Given the description of an element on the screen output the (x, y) to click on. 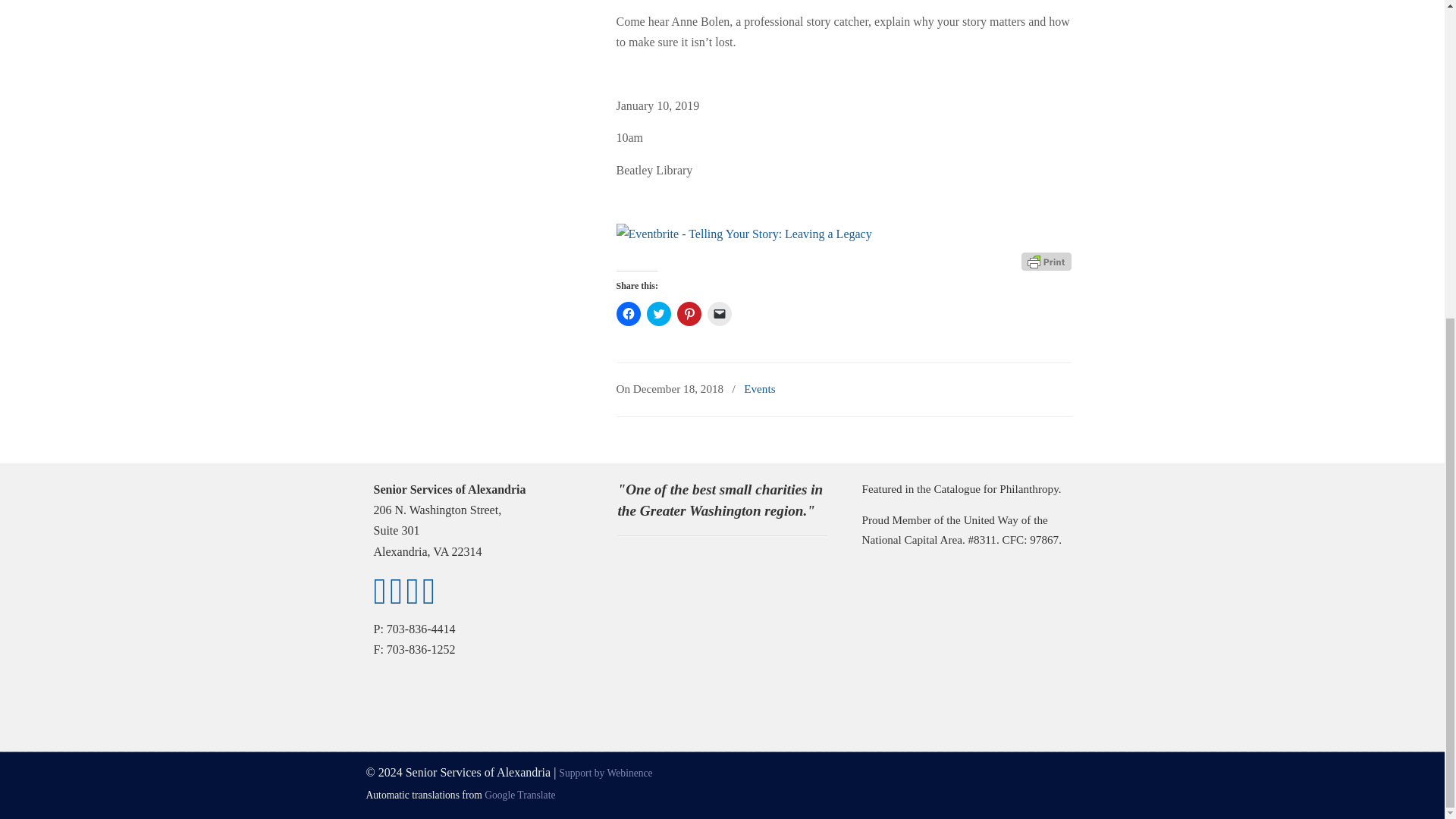
Spur Local Critical Nonprofit 2023 (670, 595)
Click to share on Facebook (627, 313)
SSA on YouTube (396, 599)
Click to share on Pinterest (688, 313)
Contact SSA (428, 599)
Click to email a link to a friend (718, 313)
SSA on Facebook (379, 599)
Click to share on Twitter (657, 313)
SSA on Instagram (413, 599)
